Given the description of an element on the screen output the (x, y) to click on. 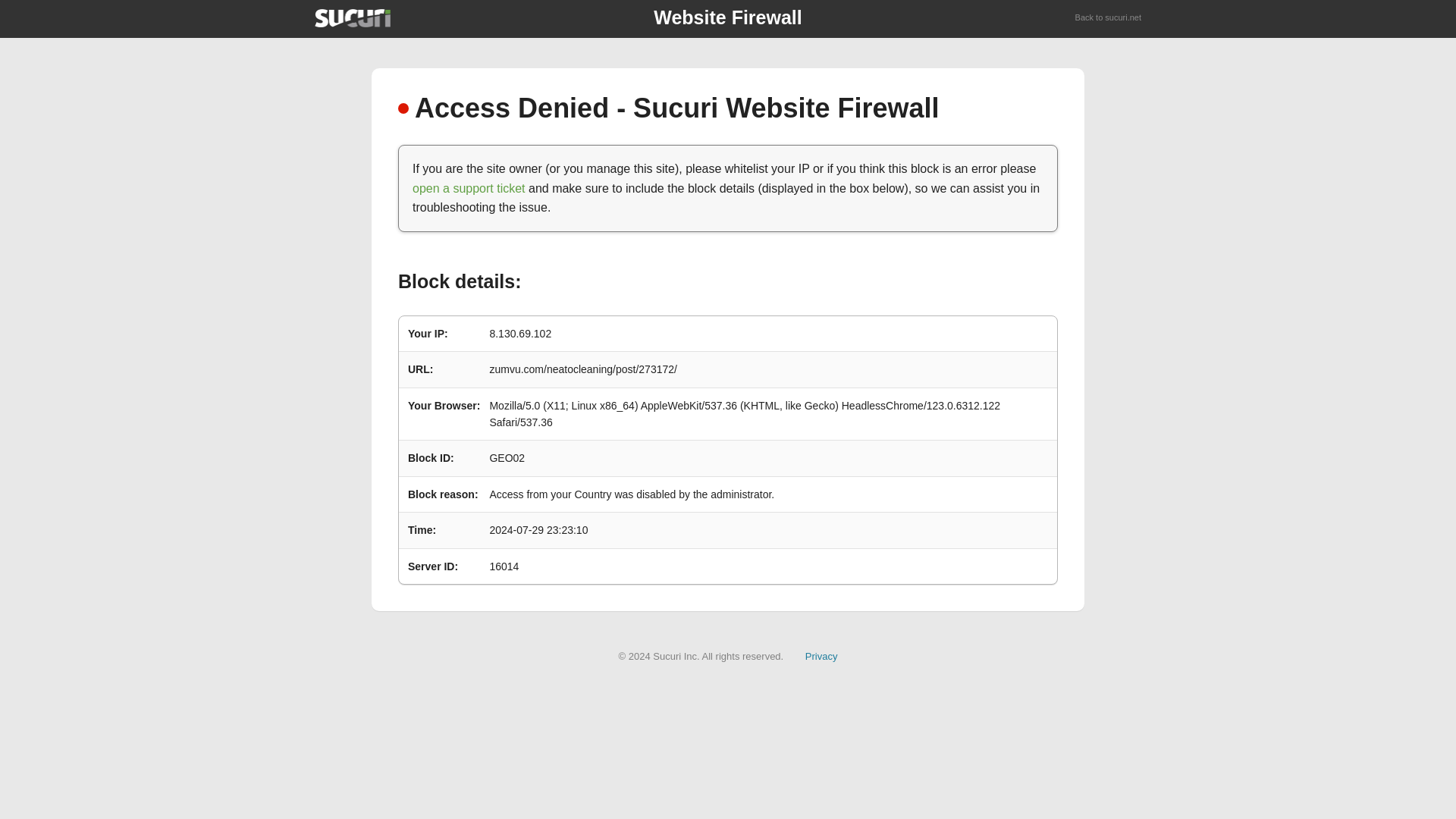
Privacy (821, 655)
open a support ticket (468, 187)
Back to sucuri.net (1108, 18)
